Given the description of an element on the screen output the (x, y) to click on. 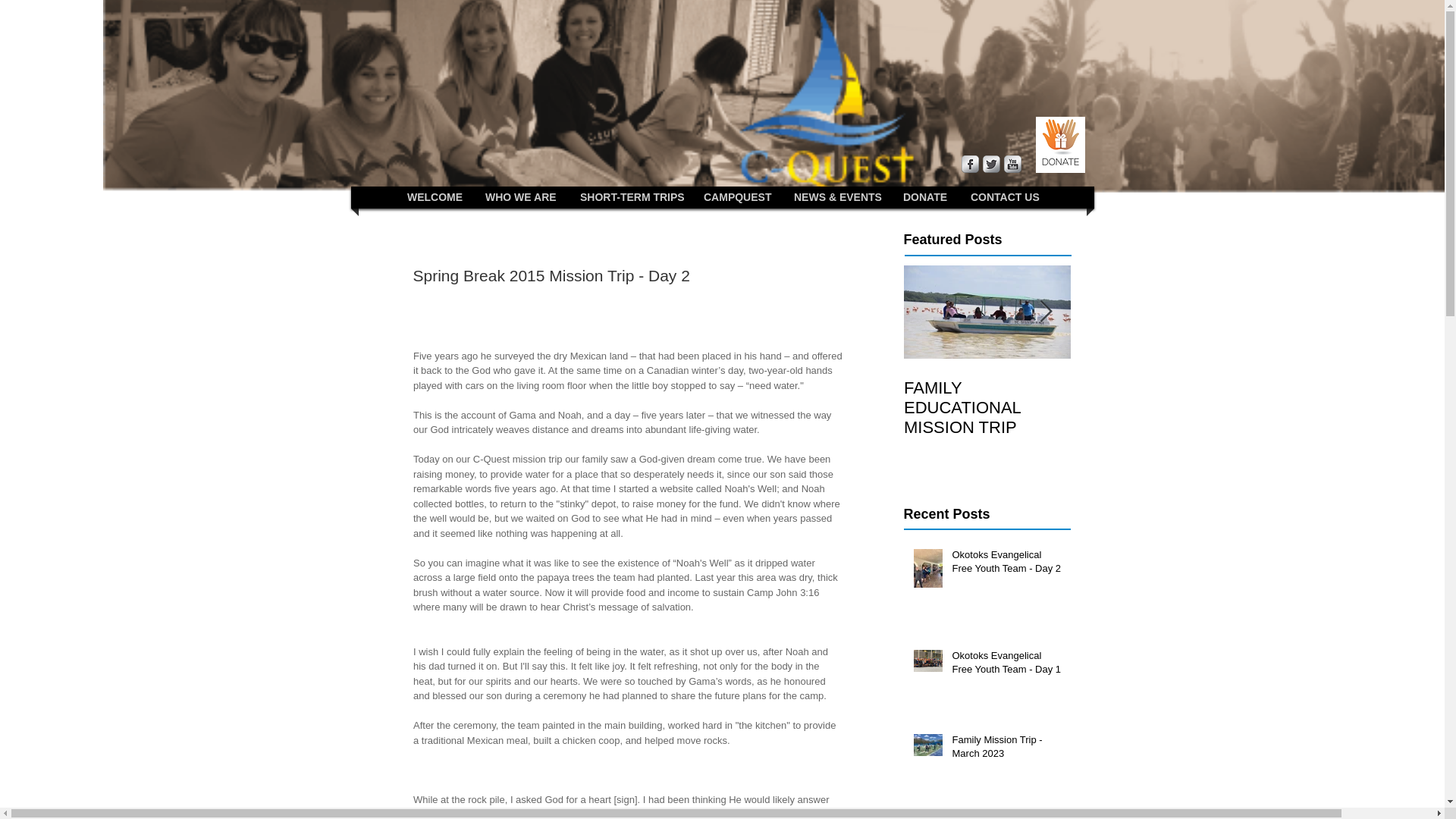
DONATE (924, 197)
Okotoks Evangelical Free Youth Team - Day 2 (1006, 564)
FAMILY EDUCATIONAL MISSION TRIP (1153, 407)
Family Mission Trip - March 2023 (1006, 749)
Family Mission Trip - March 2023 (1006, 818)
WELCOME (433, 197)
FAMILY EDUCATIONAL MISSION TRIP (987, 407)
Okotoks Evangelical Free Youth Team - Day 1 (1006, 665)
CONTACT US (1003, 197)
CAMPQUEST (736, 197)
